Given the description of an element on the screen output the (x, y) to click on. 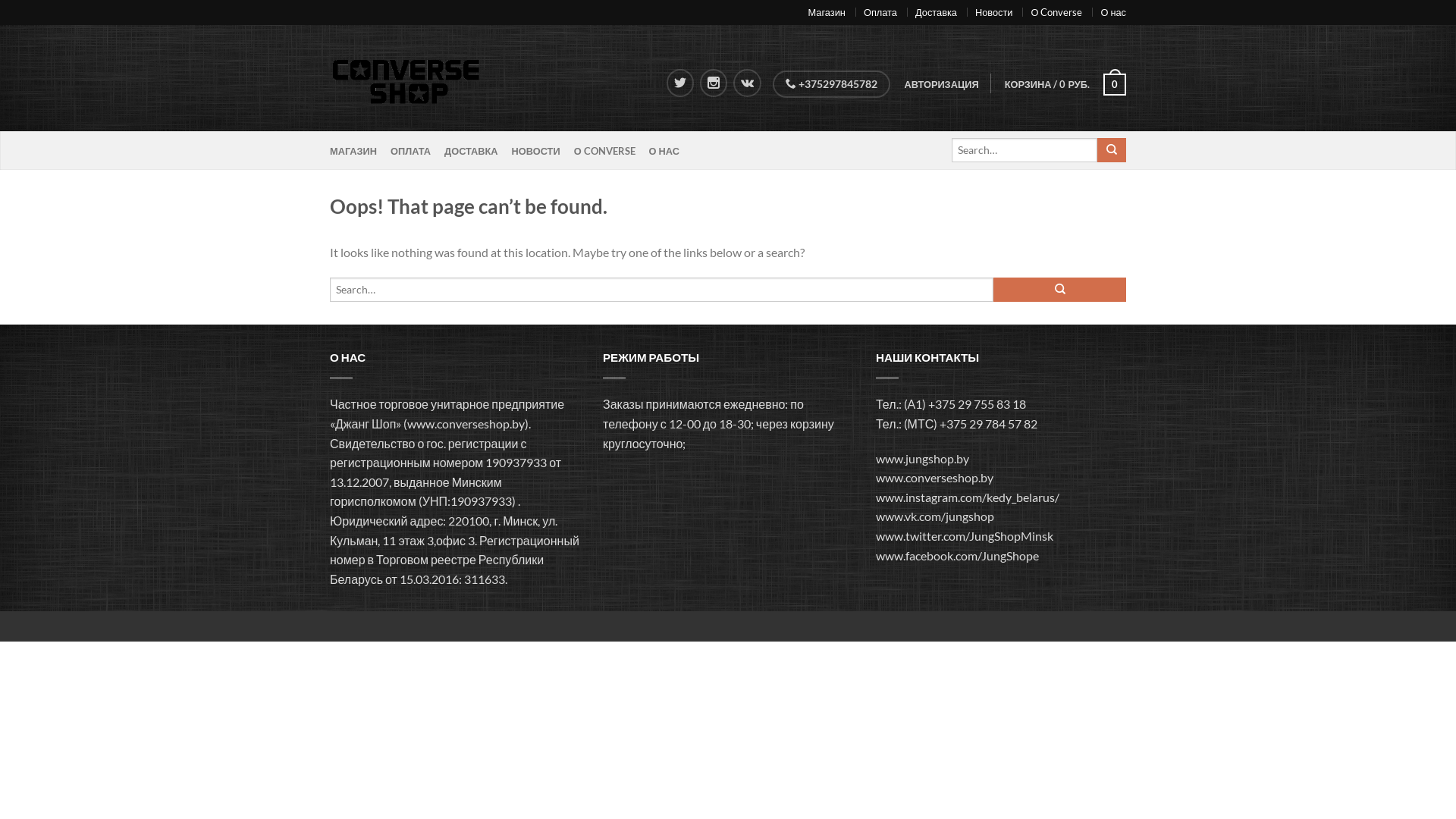
+375297845782 Element type: text (831, 83)
